Given the description of an element on the screen output the (x, y) to click on. 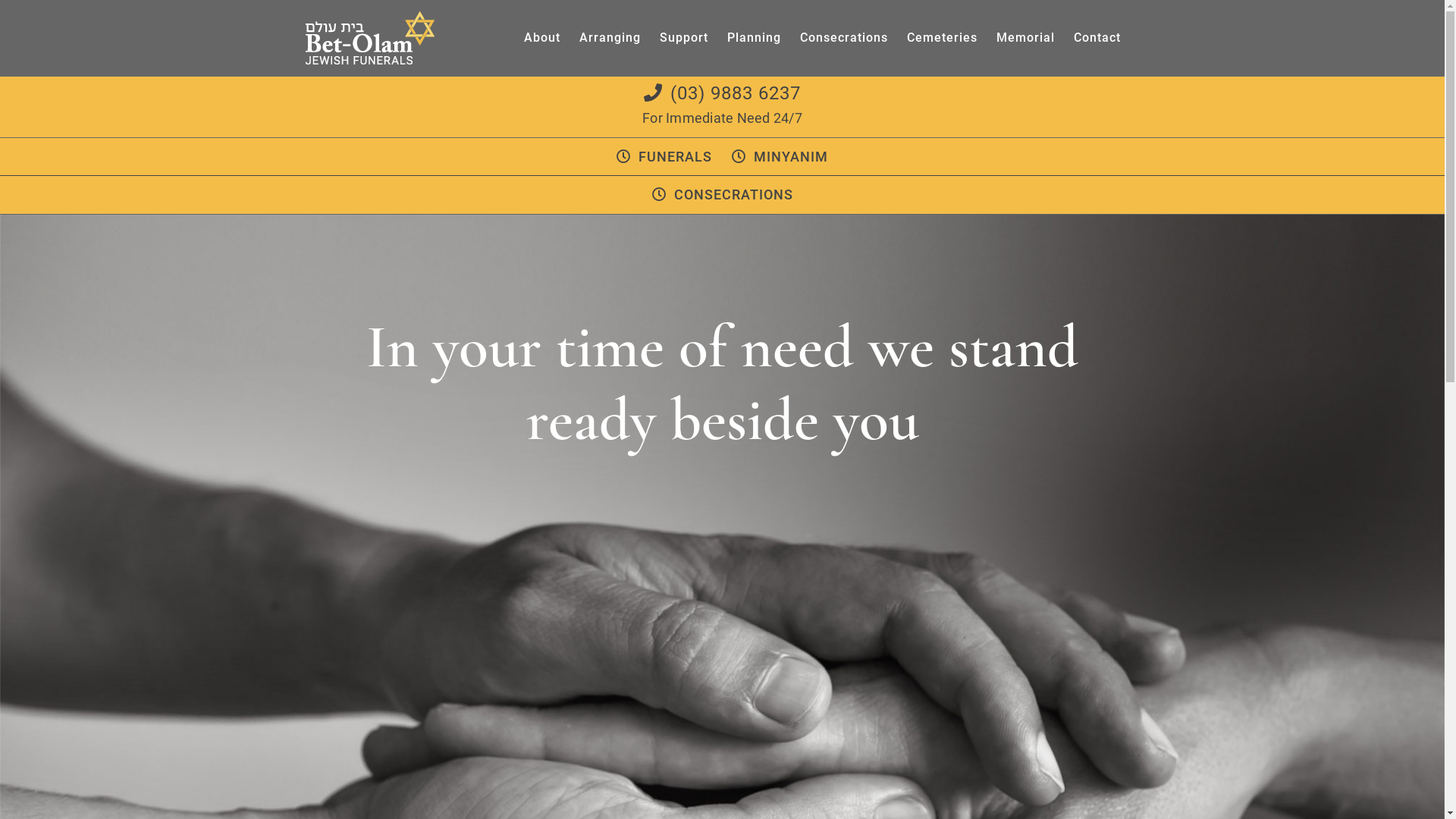
Arranging Element type: text (609, 37)
CONSECRATIONS Element type: text (722, 194)
FUNERALS Element type: text (664, 156)
Planning Element type: text (753, 37)
Memorial Element type: text (1025, 37)
Consecrations Element type: text (843, 37)
MINYANIM Element type: text (779, 156)
(03) 9883 6237 Element type: text (721, 92)
Cemeteries Element type: text (941, 37)
About Element type: text (541, 37)
Support Element type: text (683, 37)
Contact Element type: text (1096, 37)
